Given the description of an element on the screen output the (x, y) to click on. 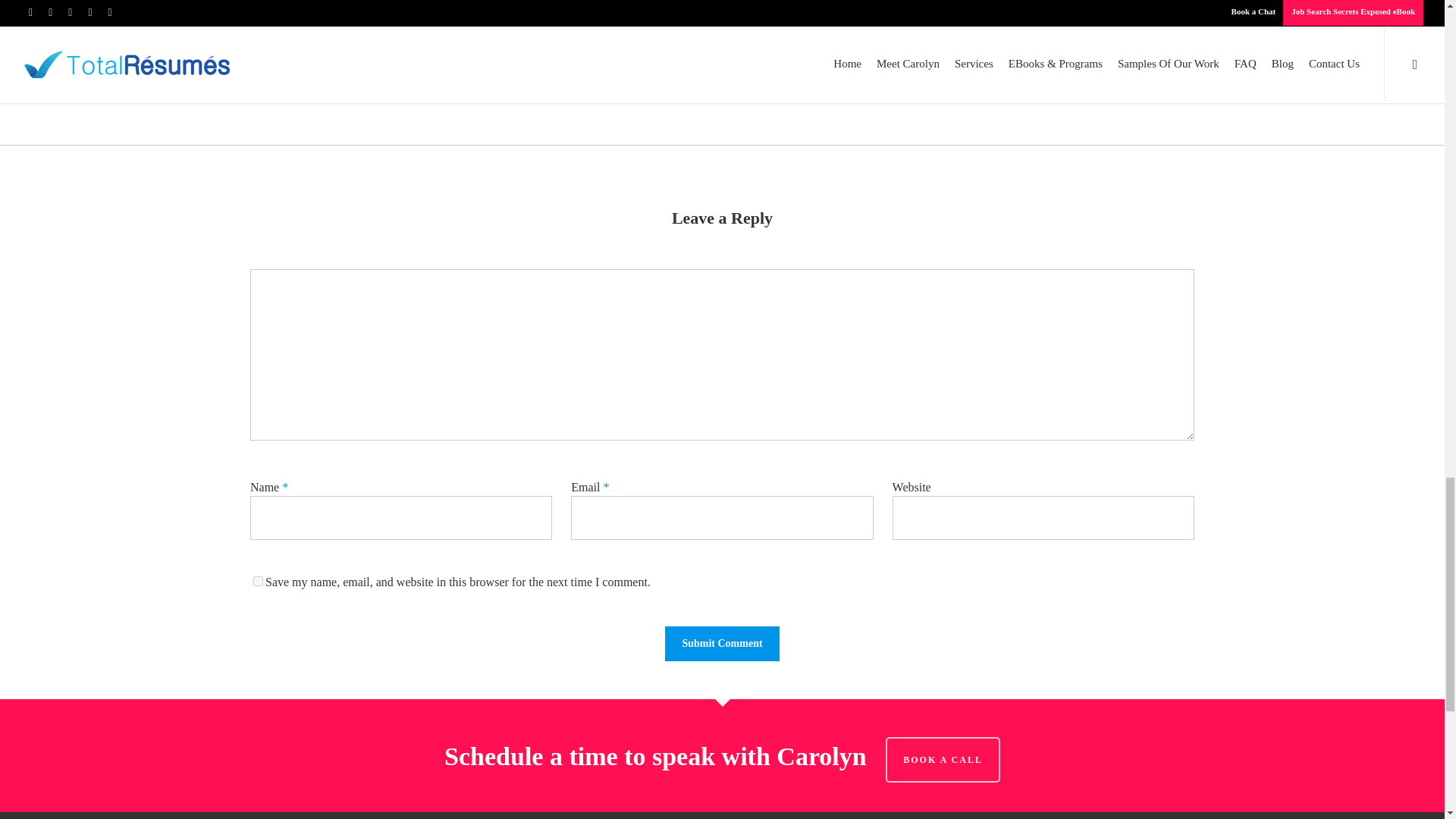
More posts by Carolyn Whitfield (721, 64)
BOOK A CALL (942, 759)
yes (258, 581)
Submit Comment (721, 643)
Submit Comment (721, 643)
